Given the description of an element on the screen output the (x, y) to click on. 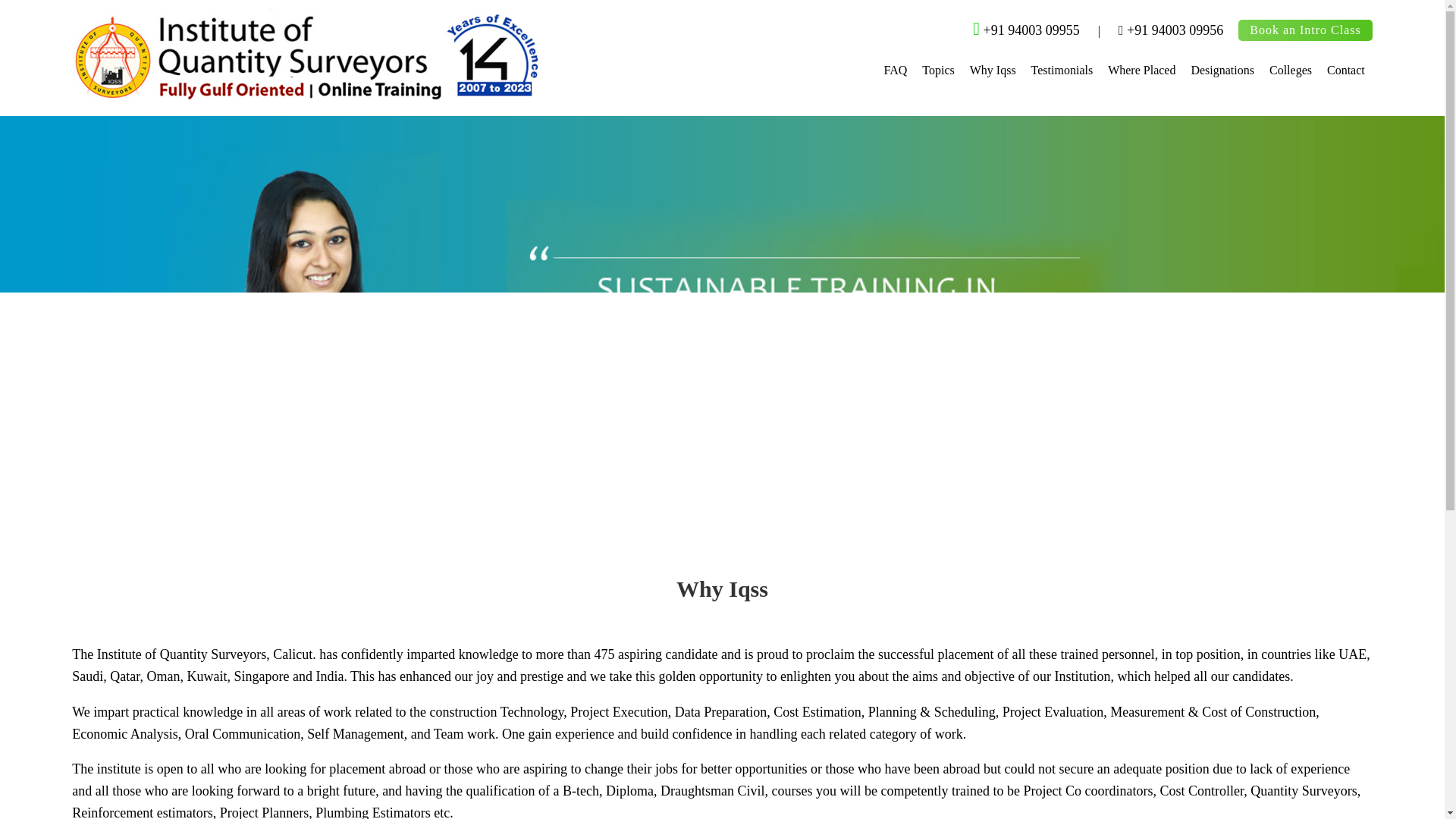
Why Iqss (992, 70)
Colleges (1290, 70)
FAQ (895, 70)
Topics (937, 70)
Where Placed (1141, 70)
Testimonials (1061, 70)
Designations (1222, 70)
Contact (1346, 70)
Book an Intro Class (1306, 29)
